Given the description of an element on the screen output the (x, y) to click on. 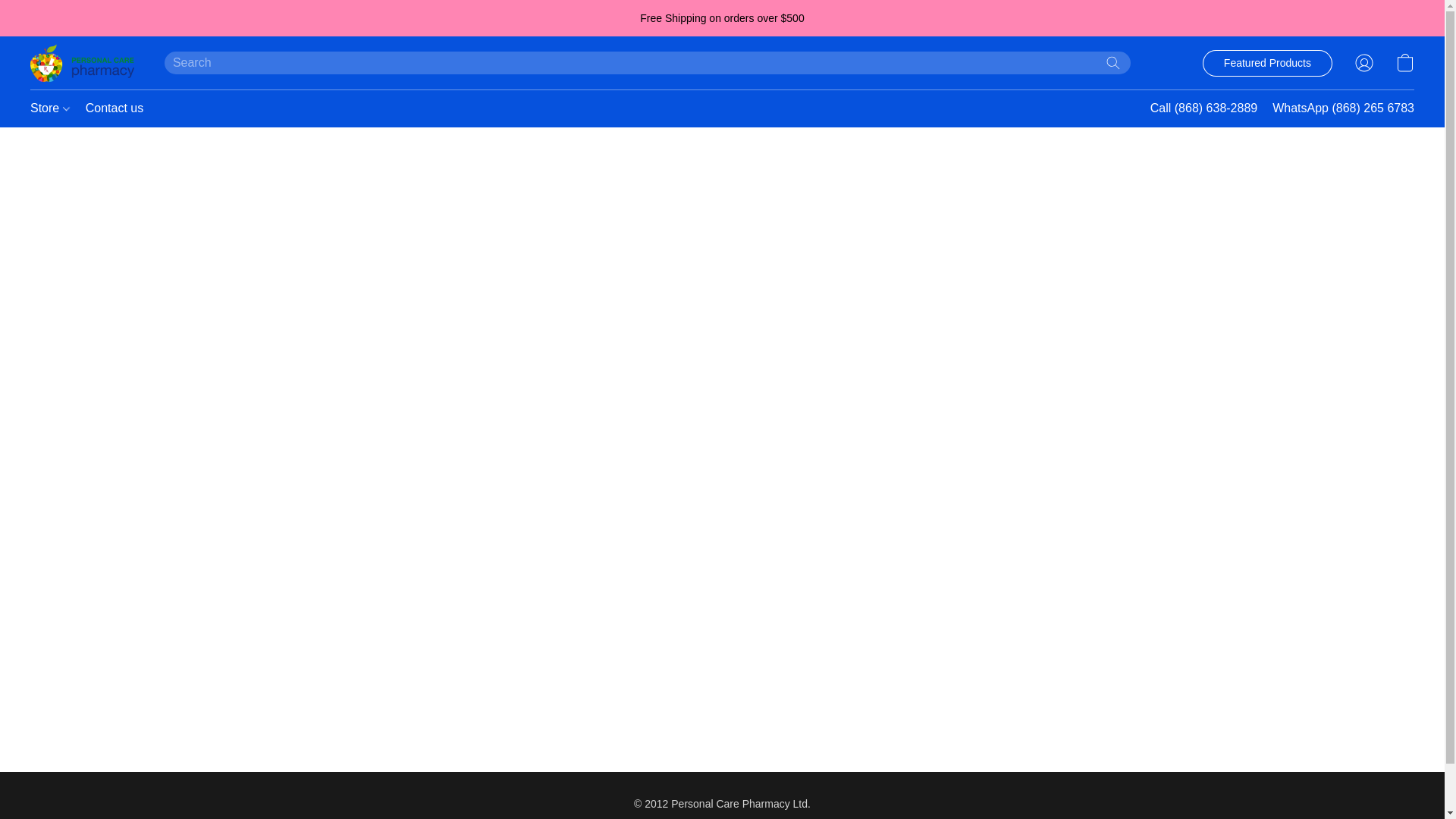
Featured Products (1267, 62)
Contact us (110, 108)
Store (54, 108)
Go to your shopping cart (1404, 62)
